Given the description of an element on the screen output the (x, y) to click on. 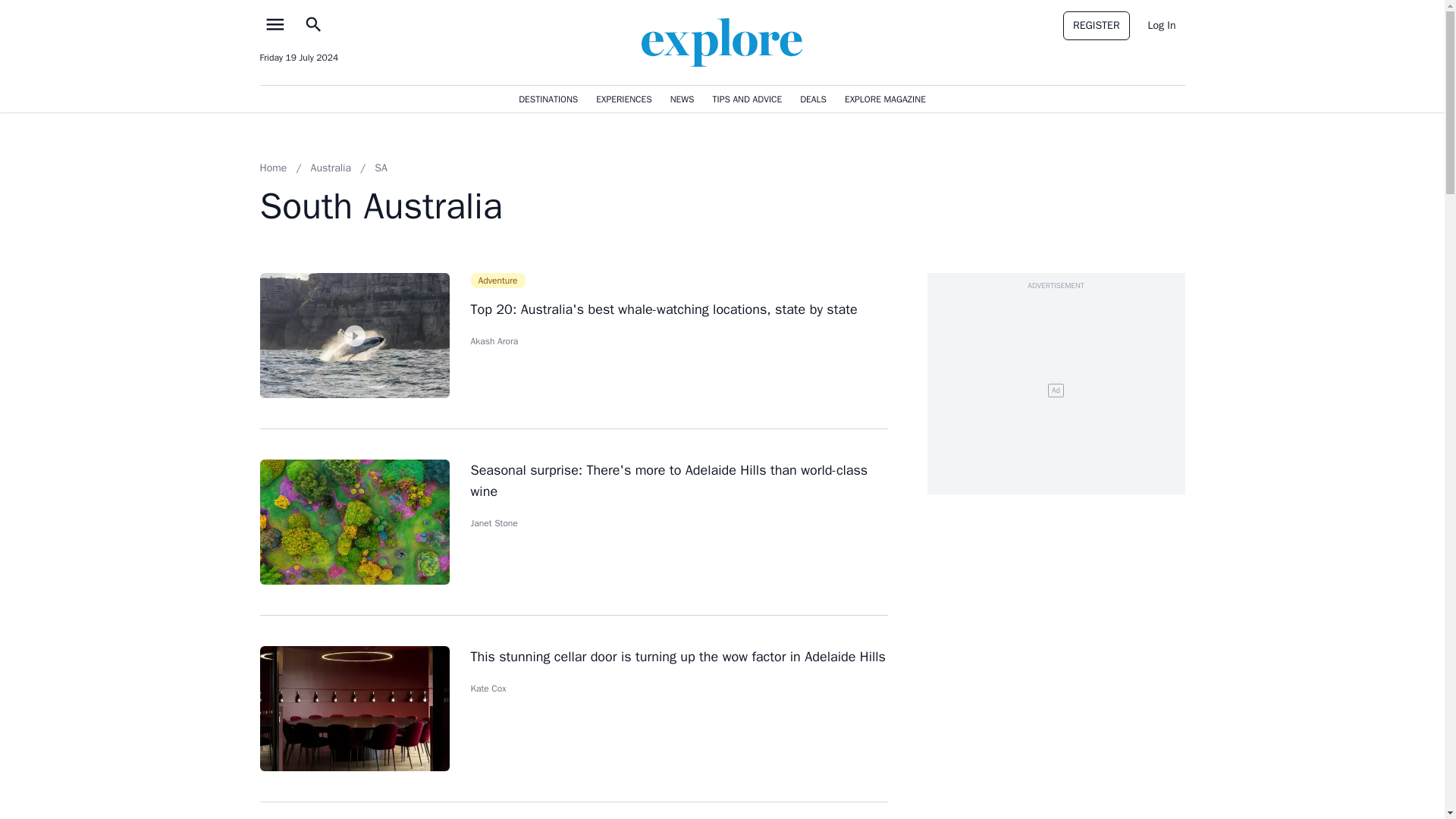
EXPLORE MAGAZINE (884, 98)
NEWS (681, 98)
DEALS (812, 98)
REGISTER (1095, 25)
Log In (1161, 25)
EXPERIENCES (623, 98)
TIPS AND ADVICE (747, 98)
DESTINATIONS (547, 98)
